Given the description of an element on the screen output the (x, y) to click on. 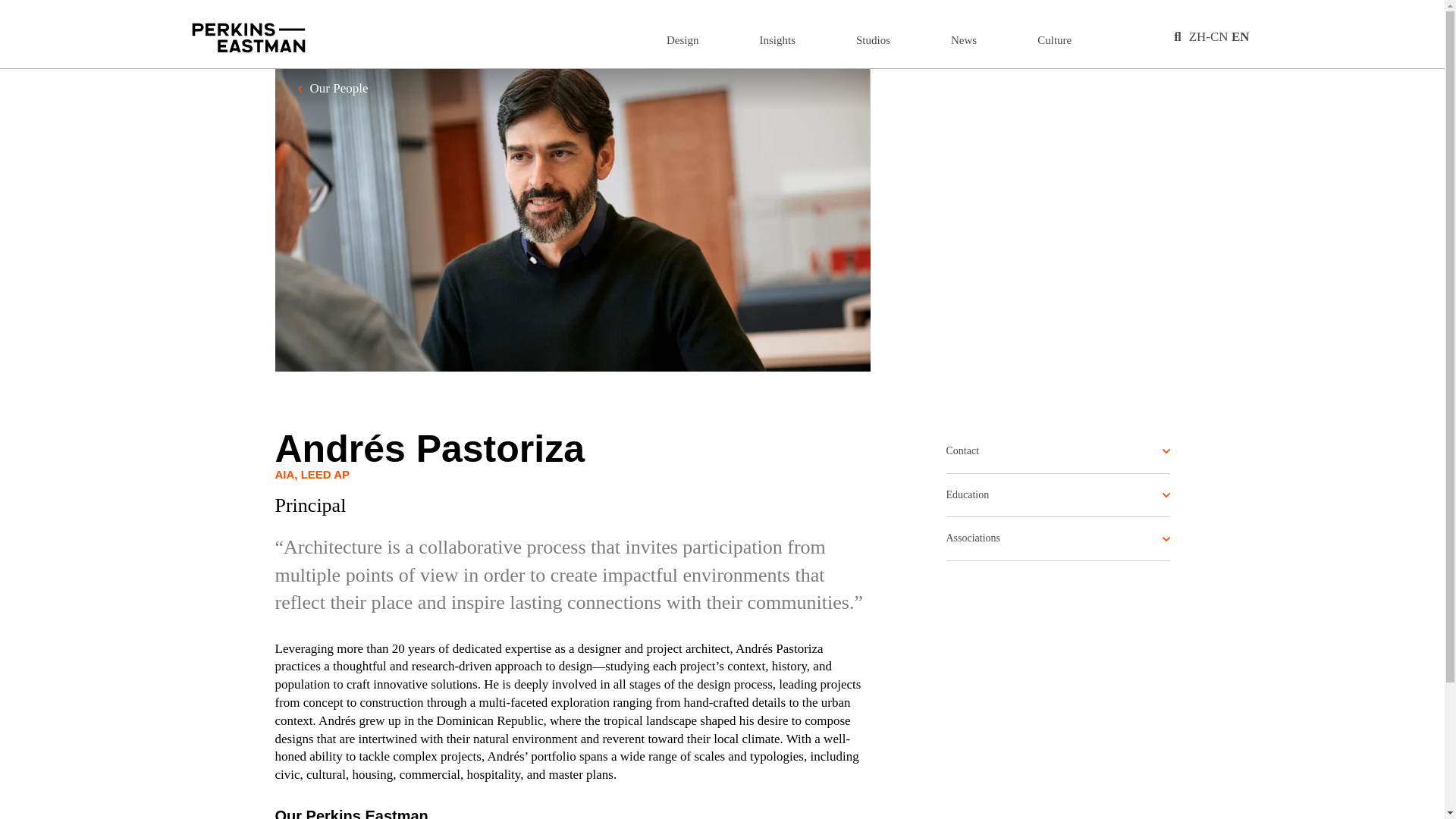
Insights (778, 40)
English (1240, 36)
Design (682, 40)
